Given the description of an element on the screen output the (x, y) to click on. 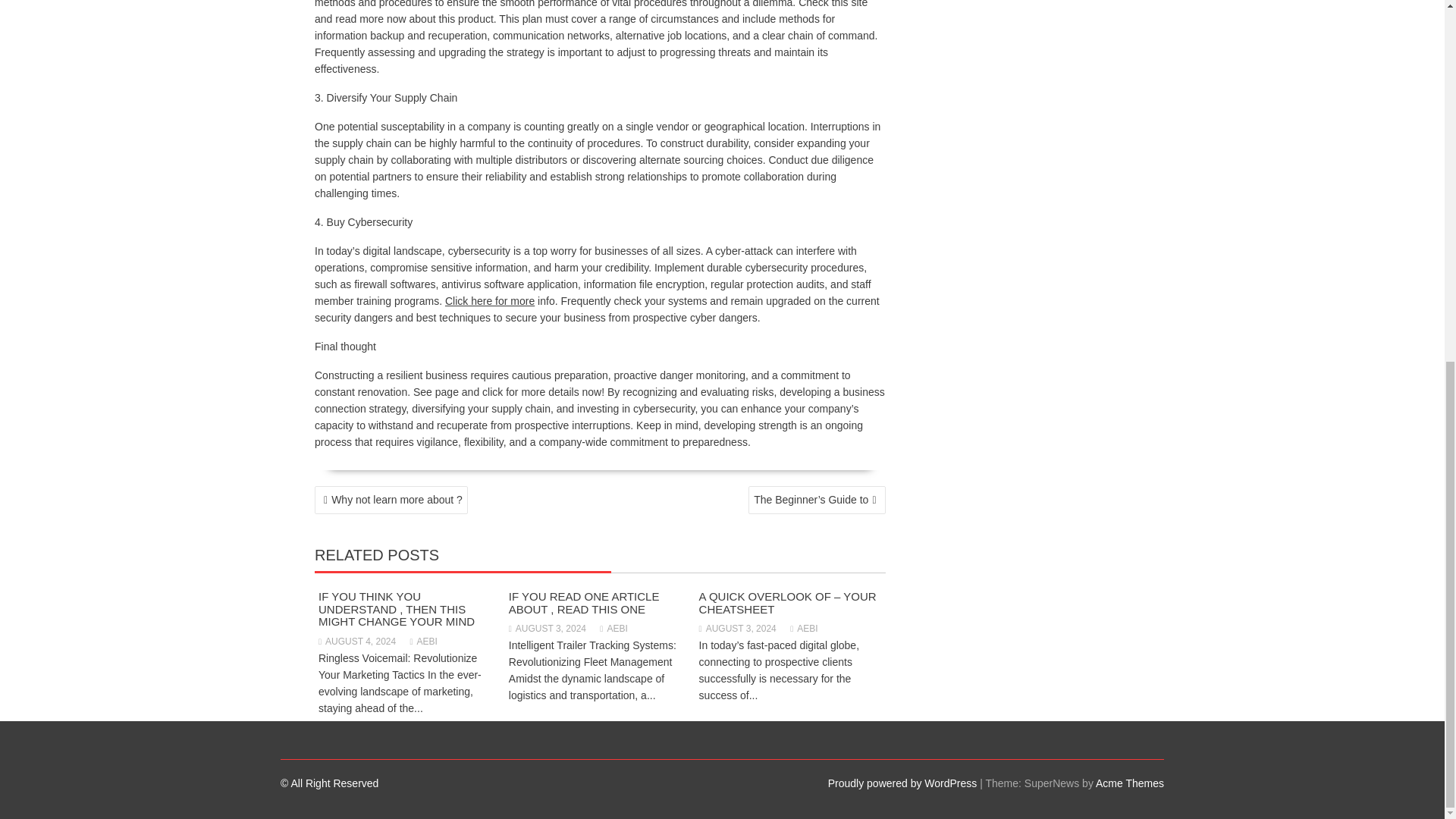
Proudly powered by WordPress (902, 783)
Click here for more (489, 300)
AEBI (424, 641)
AUGUST 4, 2024 (357, 641)
IF YOU READ ONE ARTICLE ABOUT , READ THIS ONE (583, 602)
AEBI (613, 628)
AUGUST 3, 2024 (737, 628)
AUGUST 3, 2024 (547, 628)
Acme Themes (1129, 783)
